Given the description of an element on the screen output the (x, y) to click on. 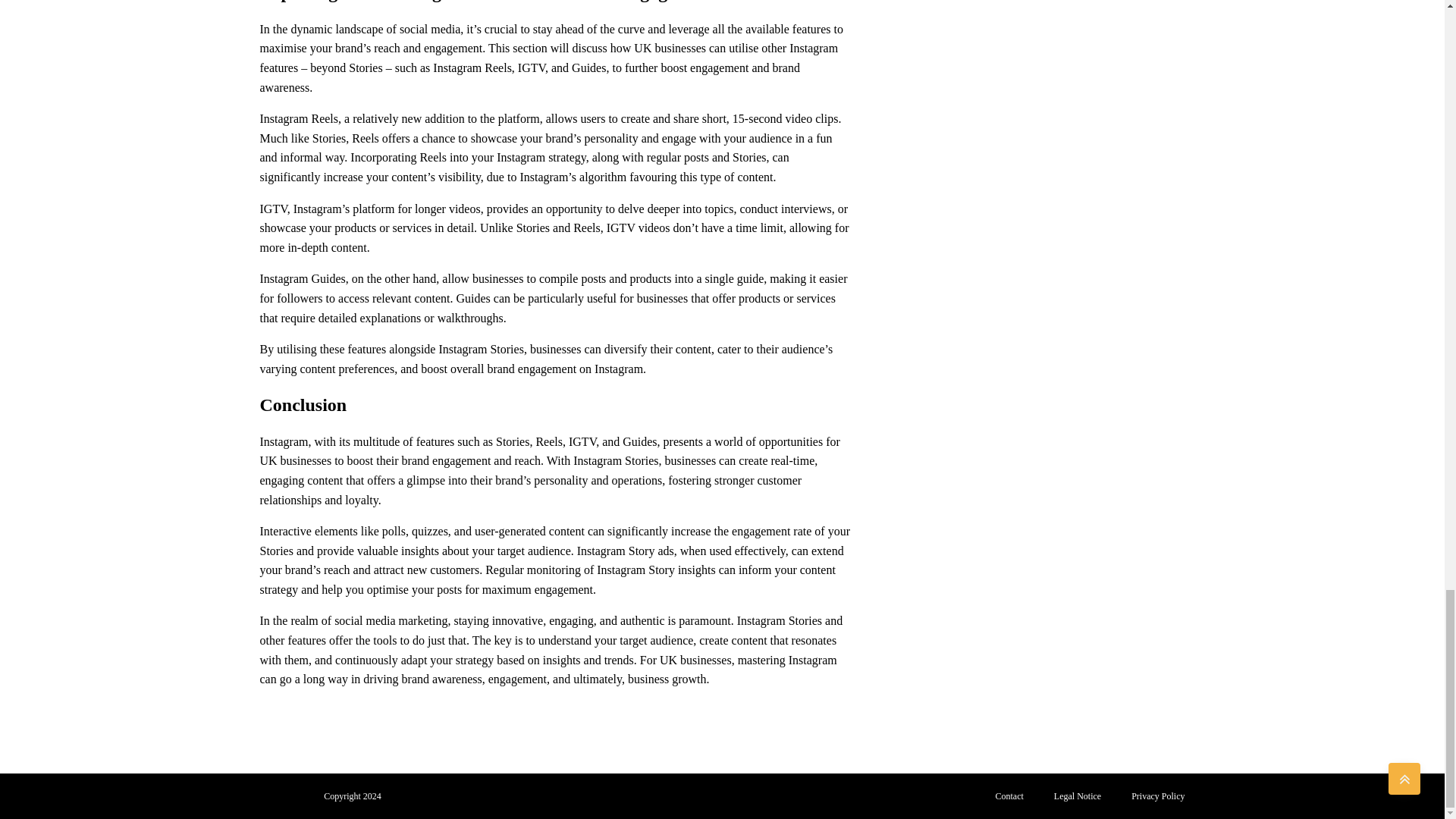
Privacy Policy (1157, 796)
Legal Notice (1077, 796)
Contact (1009, 796)
